Given the description of an element on the screen output the (x, y) to click on. 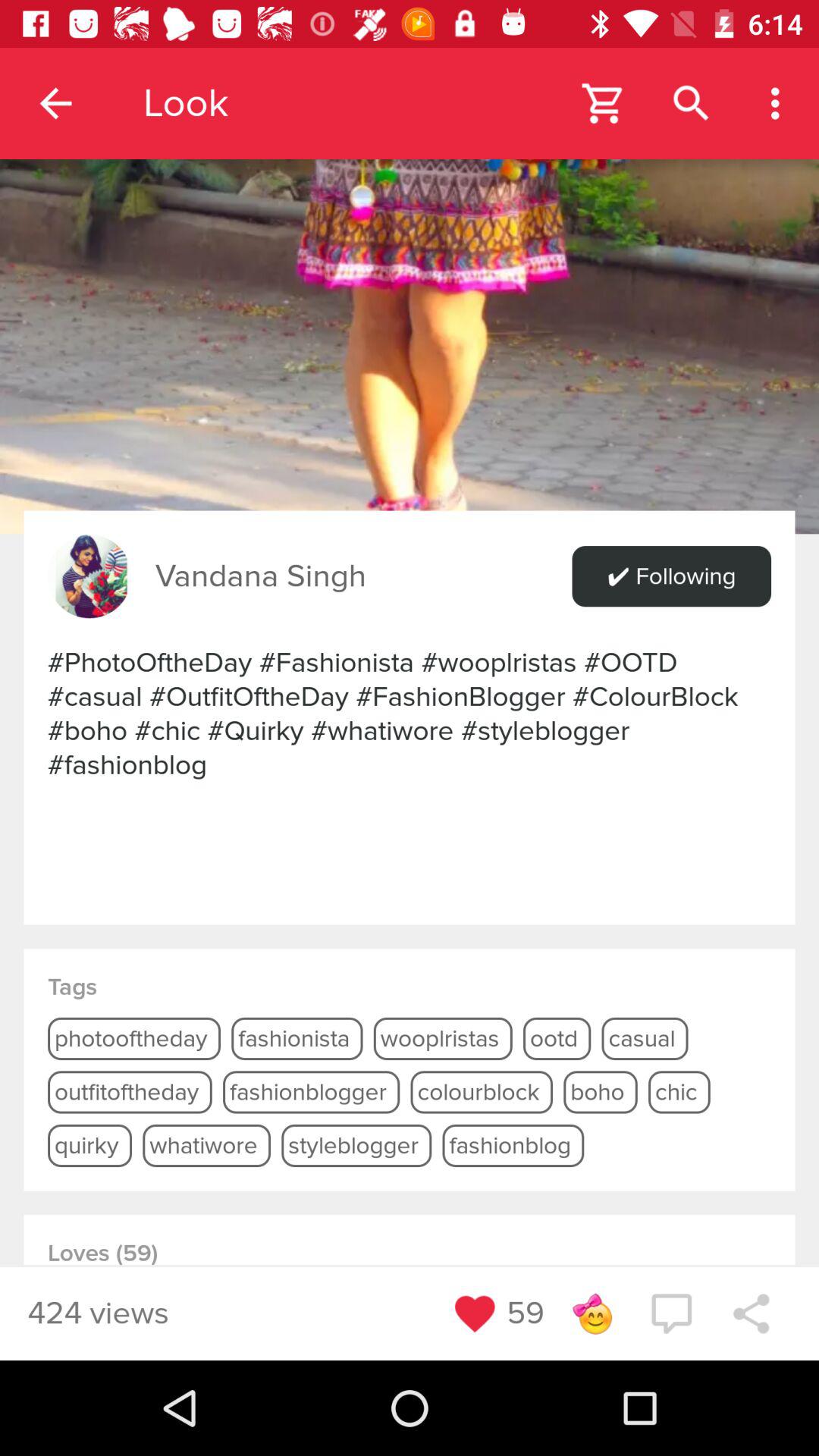
view my cart (603, 103)
